Given the description of an element on the screen output the (x, y) to click on. 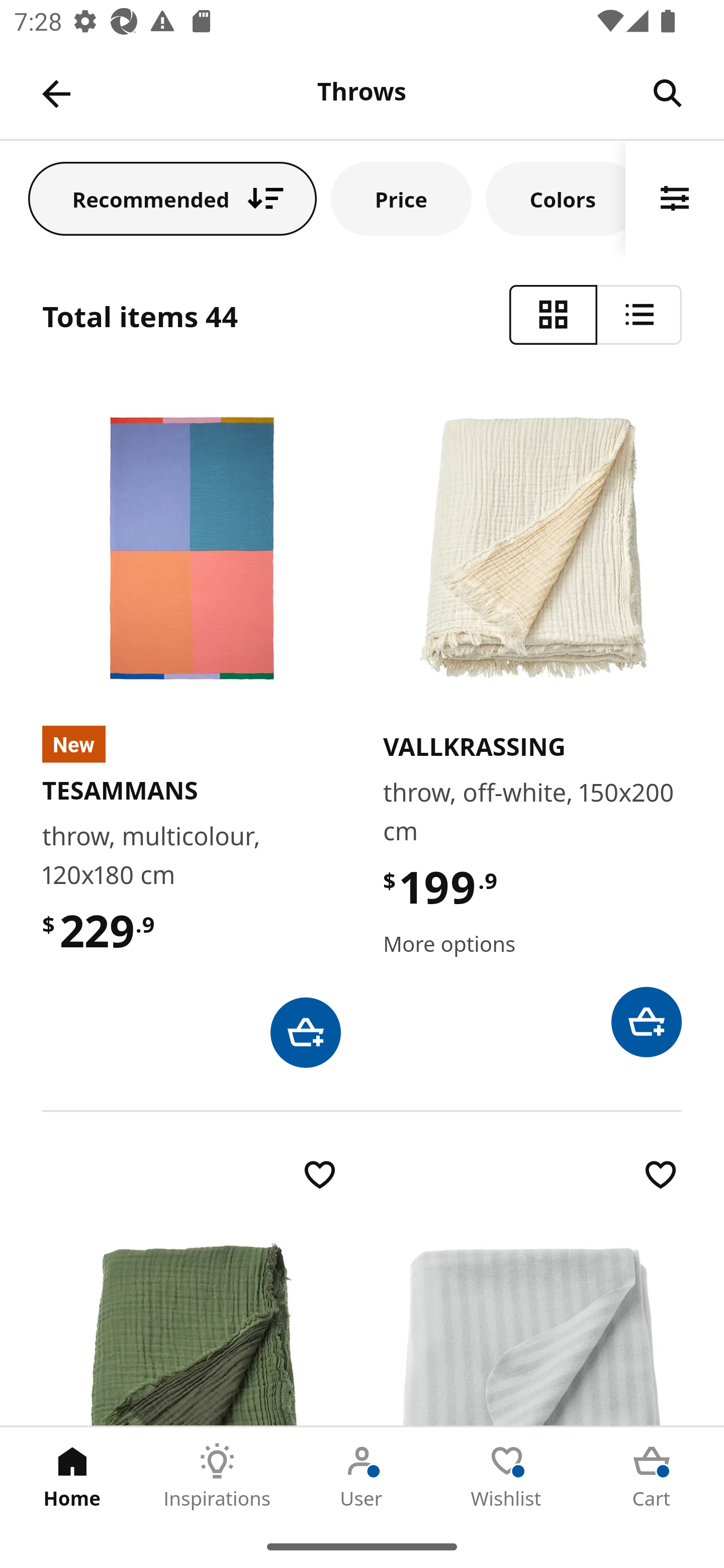
Recommended (172, 198)
Price (400, 198)
Colors (555, 198)
​V​I​T​M​O​S​S​A​
throw, grey, 120x160 cm
$
29
.9 (532, 1289)
Home
Tab 1 of 5 (72, 1476)
Inspirations
Tab 2 of 5 (216, 1476)
User
Tab 3 of 5 (361, 1476)
Wishlist
Tab 4 of 5 (506, 1476)
Cart
Tab 5 of 5 (651, 1476)
